Given the description of an element on the screen output the (x, y) to click on. 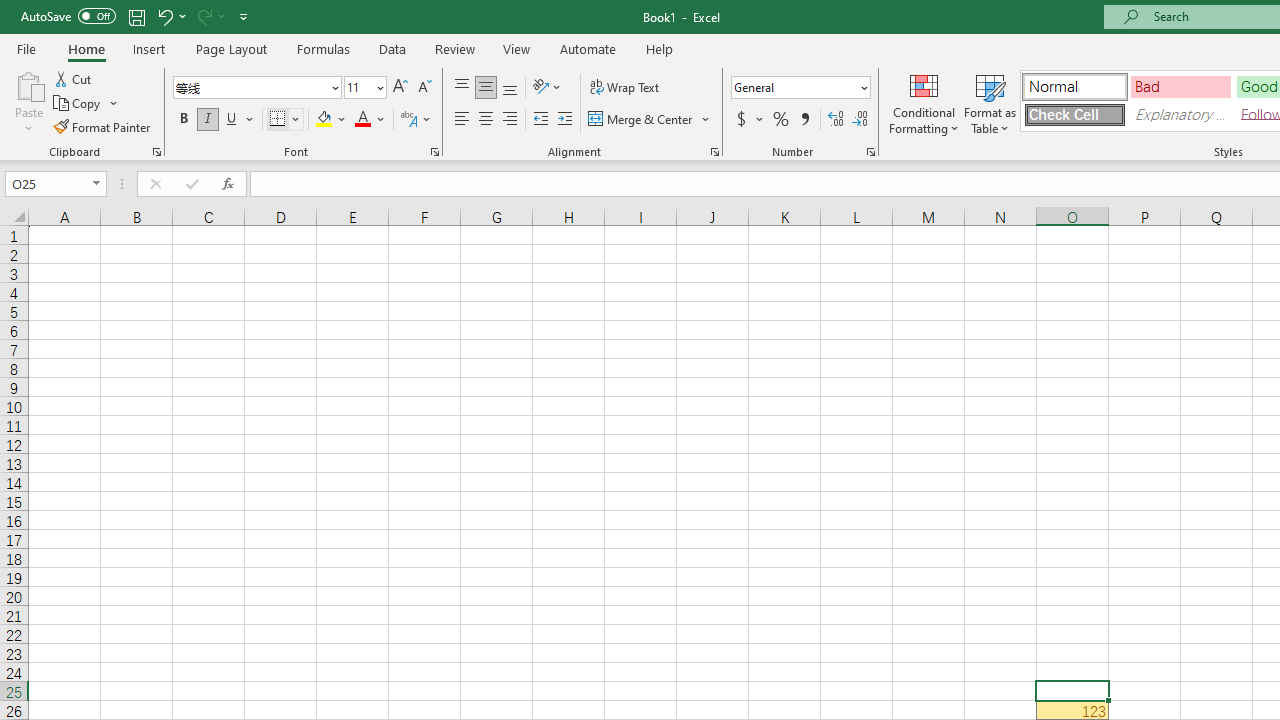
Format as Table (990, 102)
Merge & Center (649, 119)
Bold (183, 119)
Align Right (509, 119)
Underline (232, 119)
Accounting Number Format (741, 119)
Decrease Font Size (424, 87)
Increase Indent (565, 119)
